Given the description of an element on the screen output the (x, y) to click on. 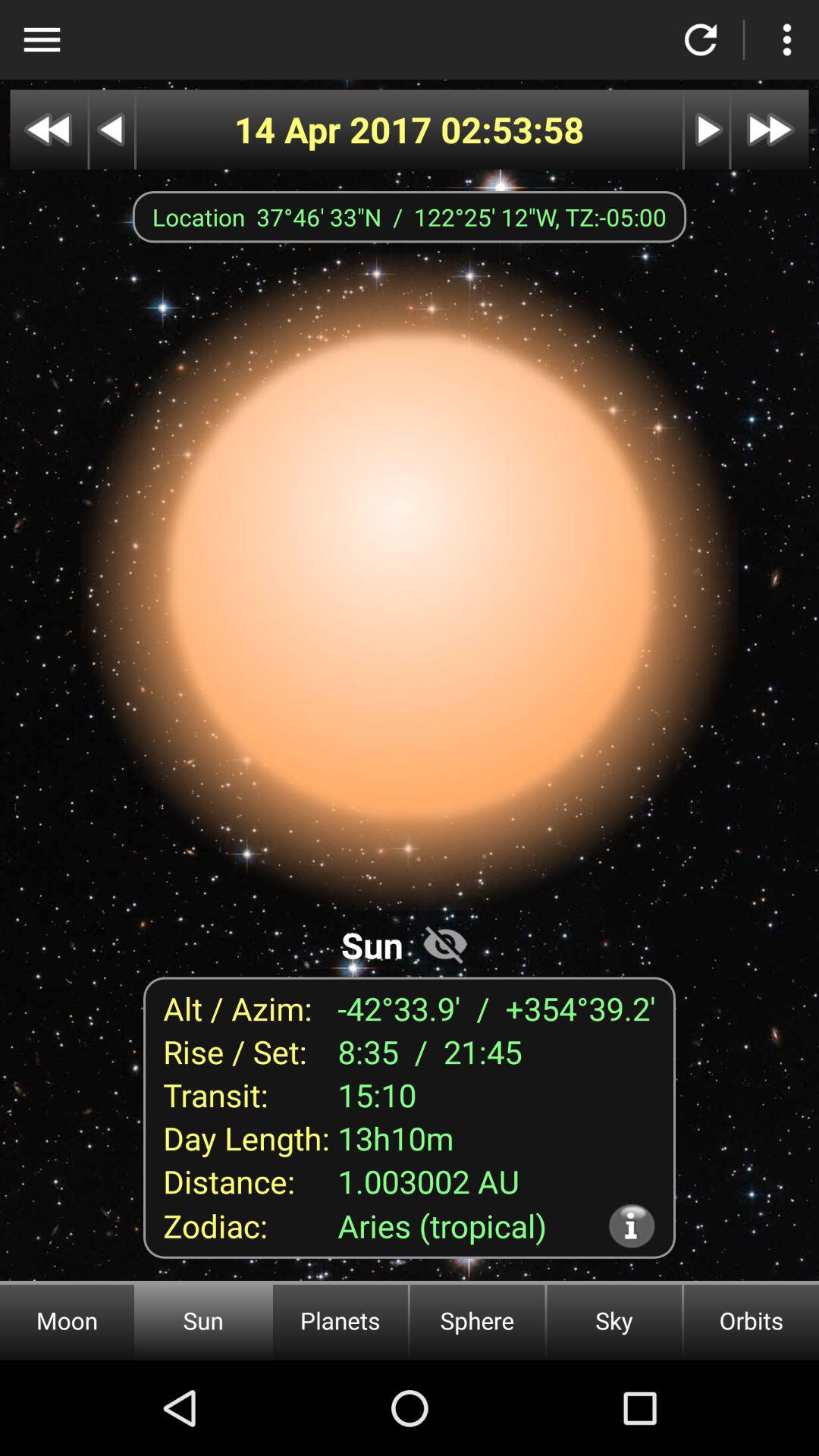
fast forward at double time (769, 129)
